Given the description of an element on the screen output the (x, y) to click on. 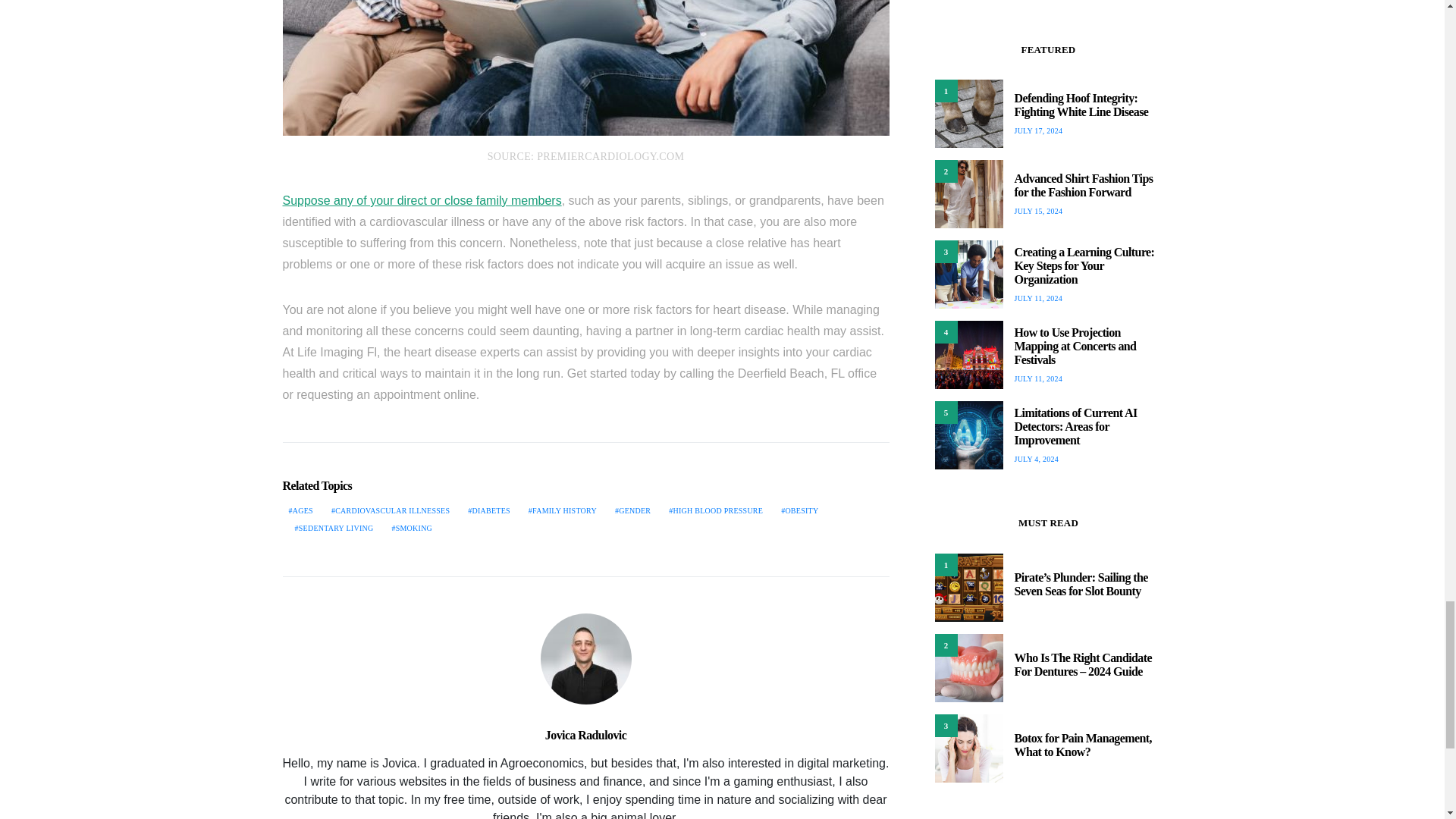
SEDENTARY LIVING (333, 527)
DIABETES (488, 510)
OBESITY (799, 510)
AGES (300, 510)
HIGH BLOOD PRESSURE (715, 510)
Jovica Radulovic (585, 735)
SMOKING (411, 527)
FAMILY HISTORY (562, 510)
Suppose any of your direct or close family members (421, 200)
CARDIOVASCULAR ILLNESSES (389, 510)
GENDER (632, 510)
